Given the description of an element on the screen output the (x, y) to click on. 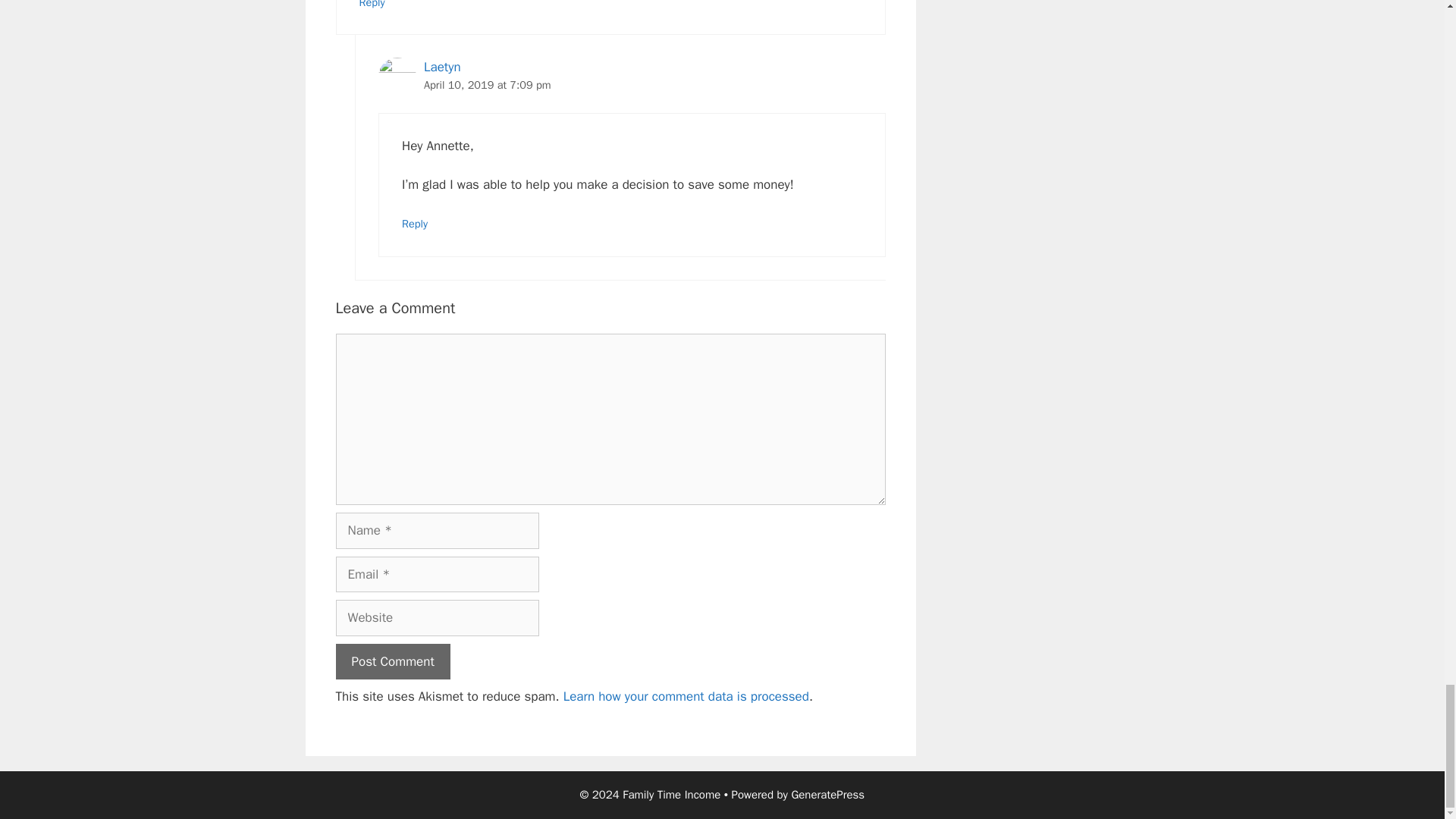
Laetyn (442, 66)
Reply (372, 4)
Reply (414, 223)
April 10, 2019 at 7:09 pm (487, 84)
Post Comment (391, 661)
